Given the description of an element on the screen output the (x, y) to click on. 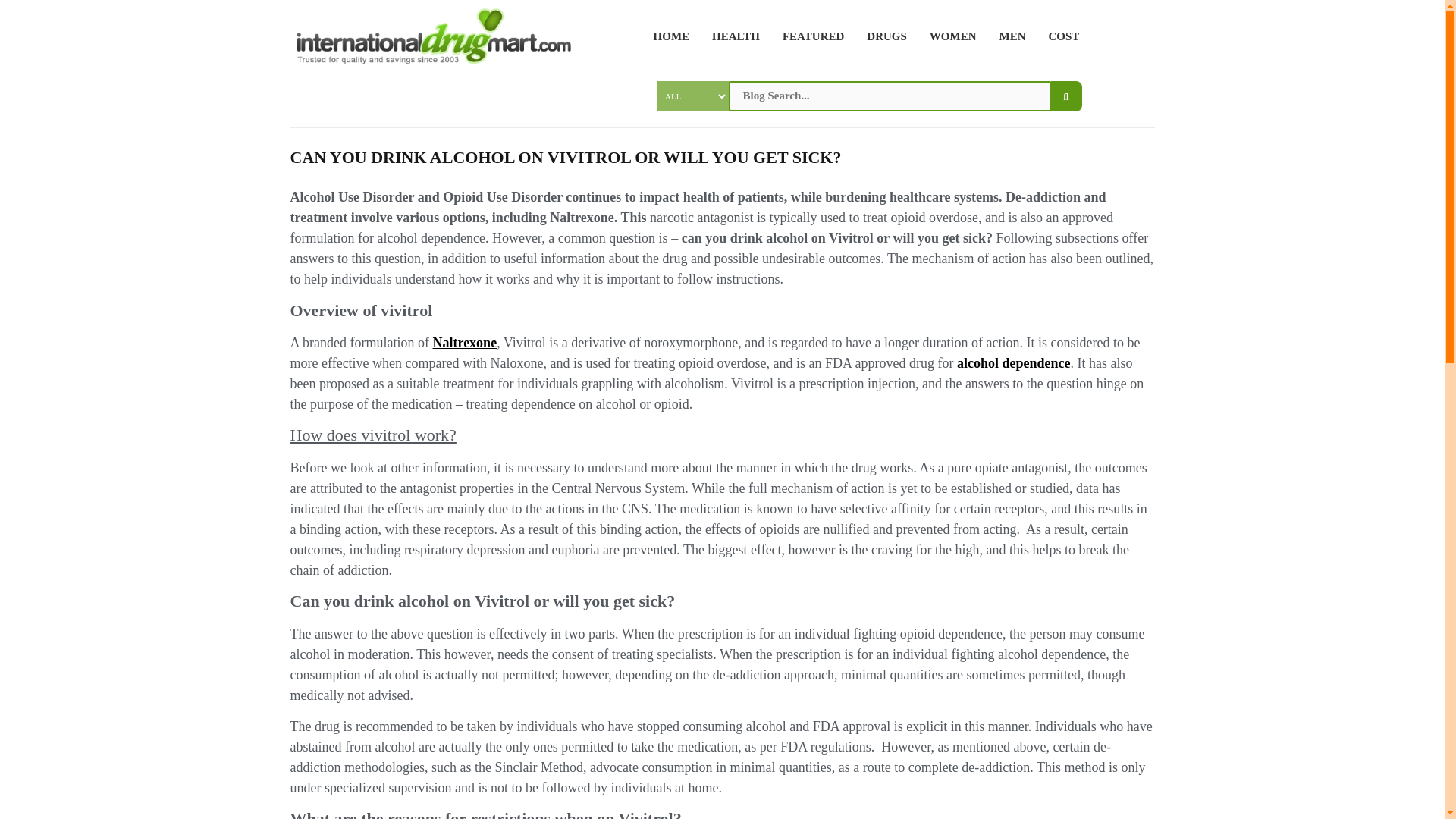
DRUGS (881, 36)
MEN (1006, 36)
alcohol dependence (1013, 363)
HEALTH (730, 36)
Naltrexone (464, 342)
HOME (666, 36)
COST (1058, 36)
FEATURED (807, 36)
WOMEN (947, 36)
